Given the description of an element on the screen output the (x, y) to click on. 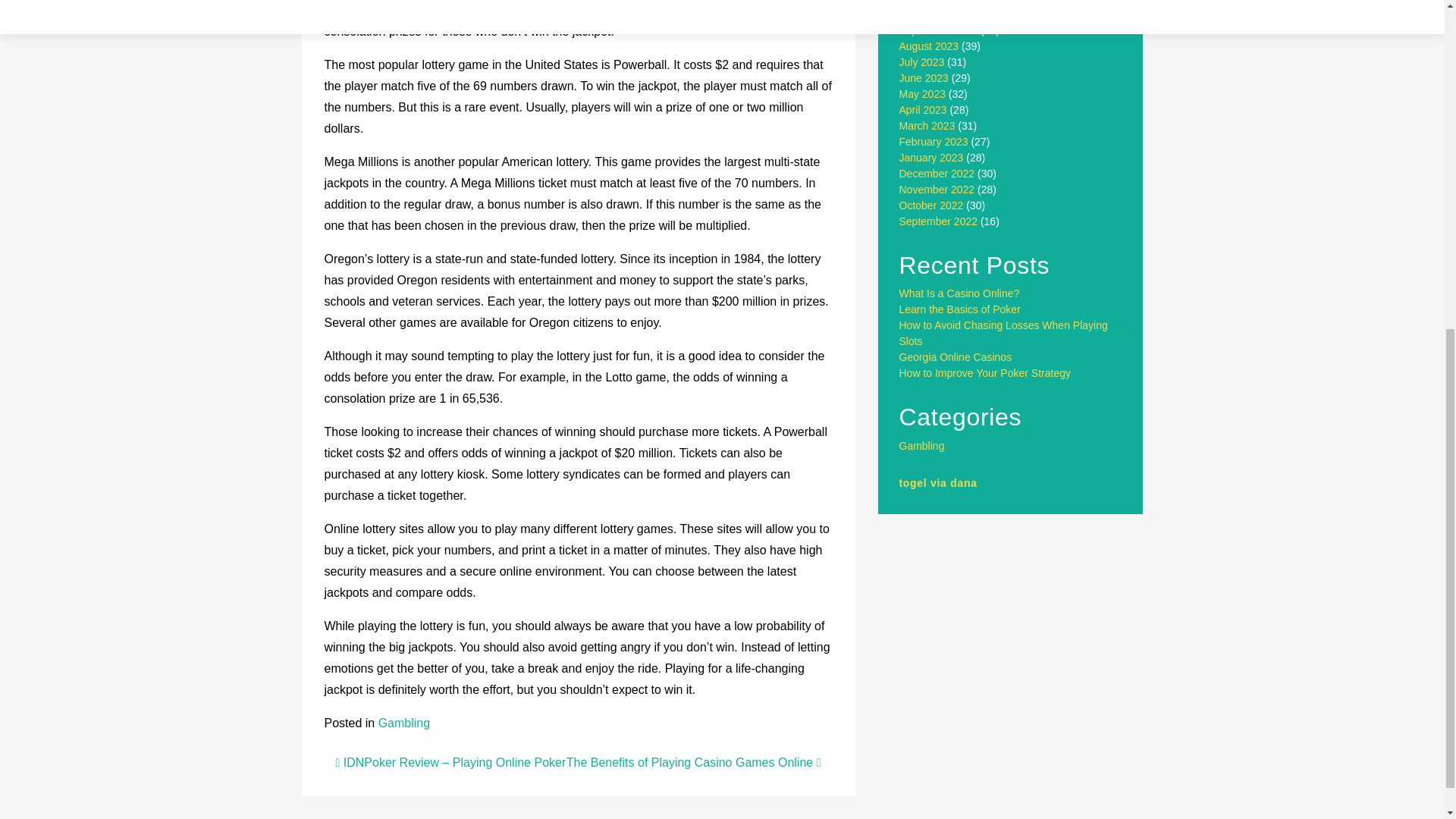
November 2023 (937, 2)
How to Improve Your Poker Strategy (984, 372)
June 2023 (924, 78)
April 2023 (923, 110)
togel via dana (937, 482)
August 2023 (929, 46)
February 2023 (933, 141)
What Is a Casino Online? (959, 293)
September 2022 (938, 221)
Gambling (921, 445)
The Benefits of Playing Casino Games Online  (693, 762)
March 2023 (927, 125)
October 2022 (931, 205)
November 2022 (937, 189)
Gambling (403, 722)
